Given the description of an element on the screen output the (x, y) to click on. 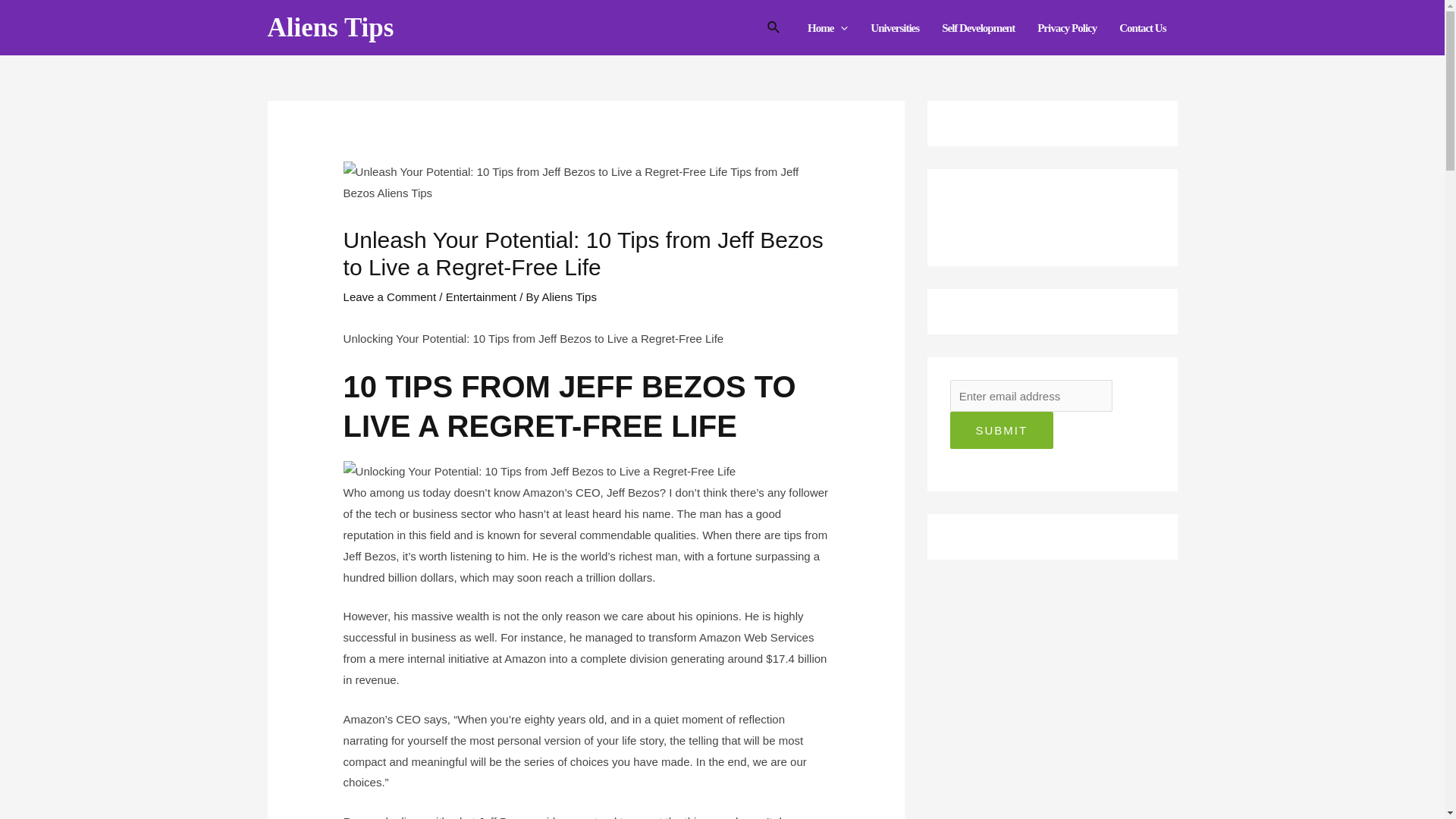
Contact Us (1142, 27)
Self Development (978, 27)
Universities (894, 27)
Submit (1000, 429)
Home (827, 27)
View all posts by Aliens Tips (568, 296)
Privacy Policy (1067, 27)
Aliens Tips (329, 27)
